Given the description of an element on the screen output the (x, y) to click on. 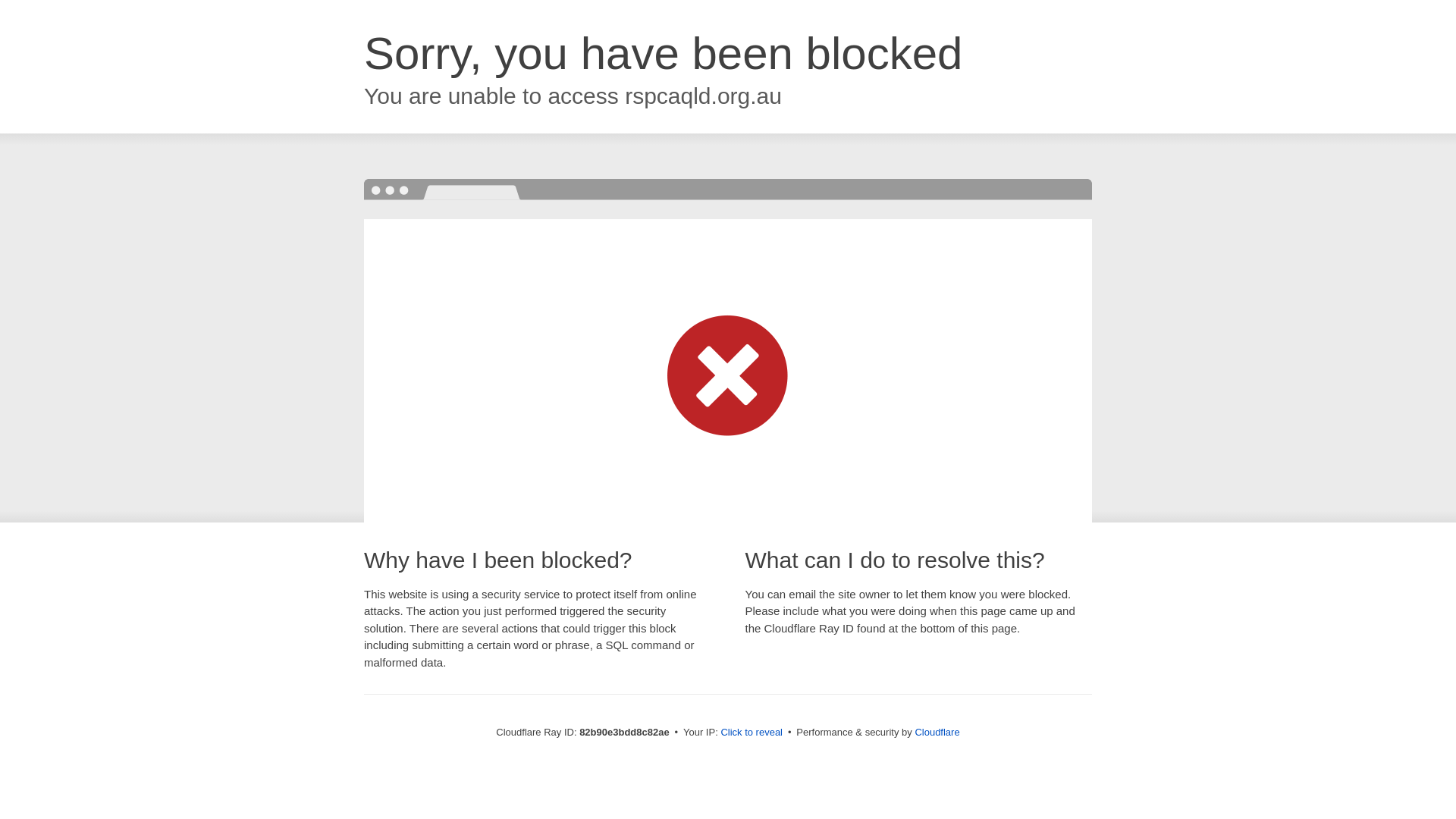
Click to reveal Element type: text (751, 732)
Cloudflare Element type: text (936, 731)
